Given the description of an element on the screen output the (x, y) to click on. 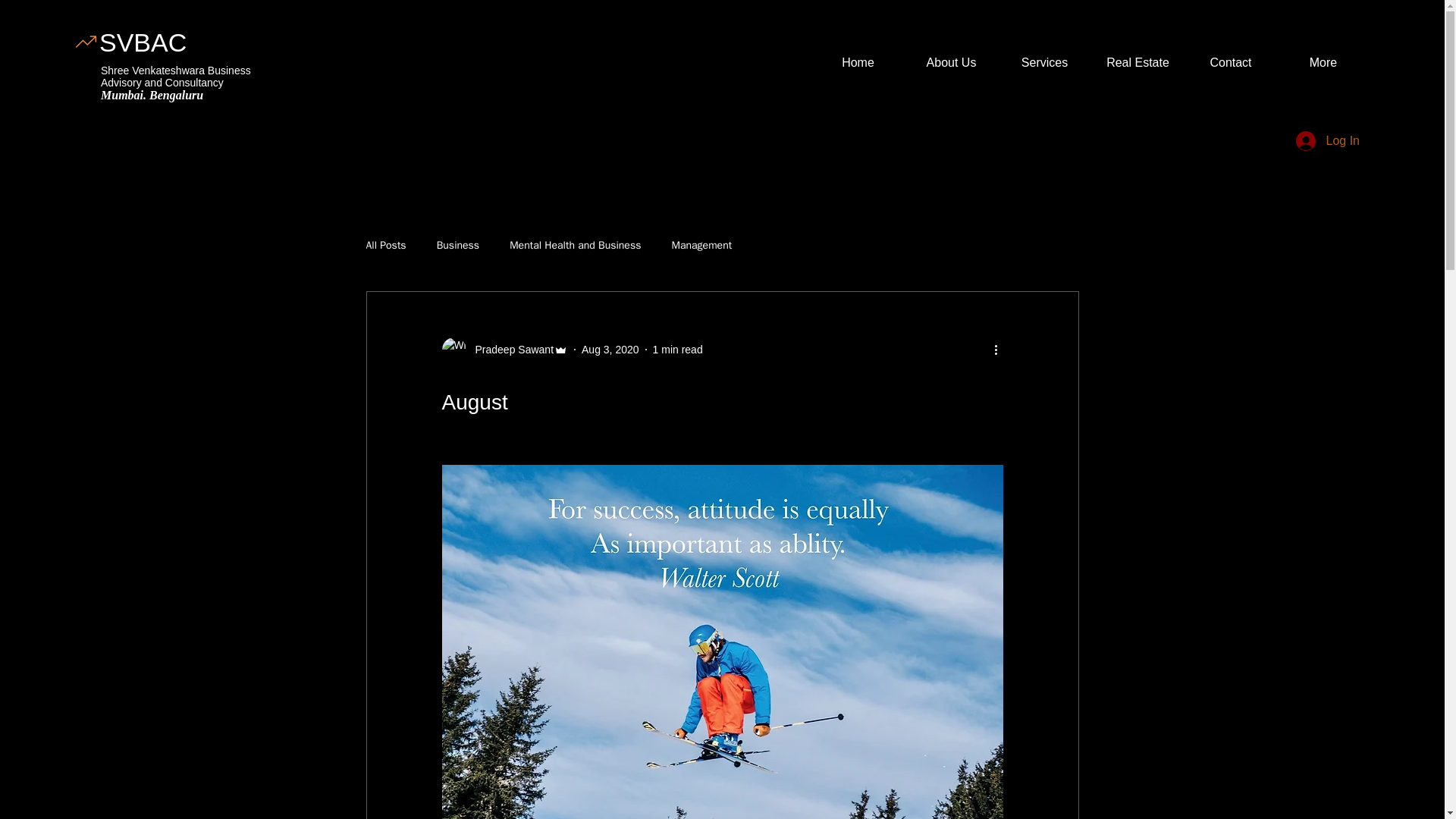
Business (457, 245)
Home (857, 62)
1 min read (677, 348)
Contact (1230, 62)
Real Estate (1137, 62)
Log In (1327, 140)
Services (1043, 62)
All Posts (385, 245)
Management (701, 245)
Pradeep Sawant (509, 349)
SVBAC (142, 41)
Pradeep Sawant (504, 349)
About Us (950, 62)
Aug 3, 2020 (609, 348)
Mental Health and Business (574, 245)
